Given the description of an element on the screen output the (x, y) to click on. 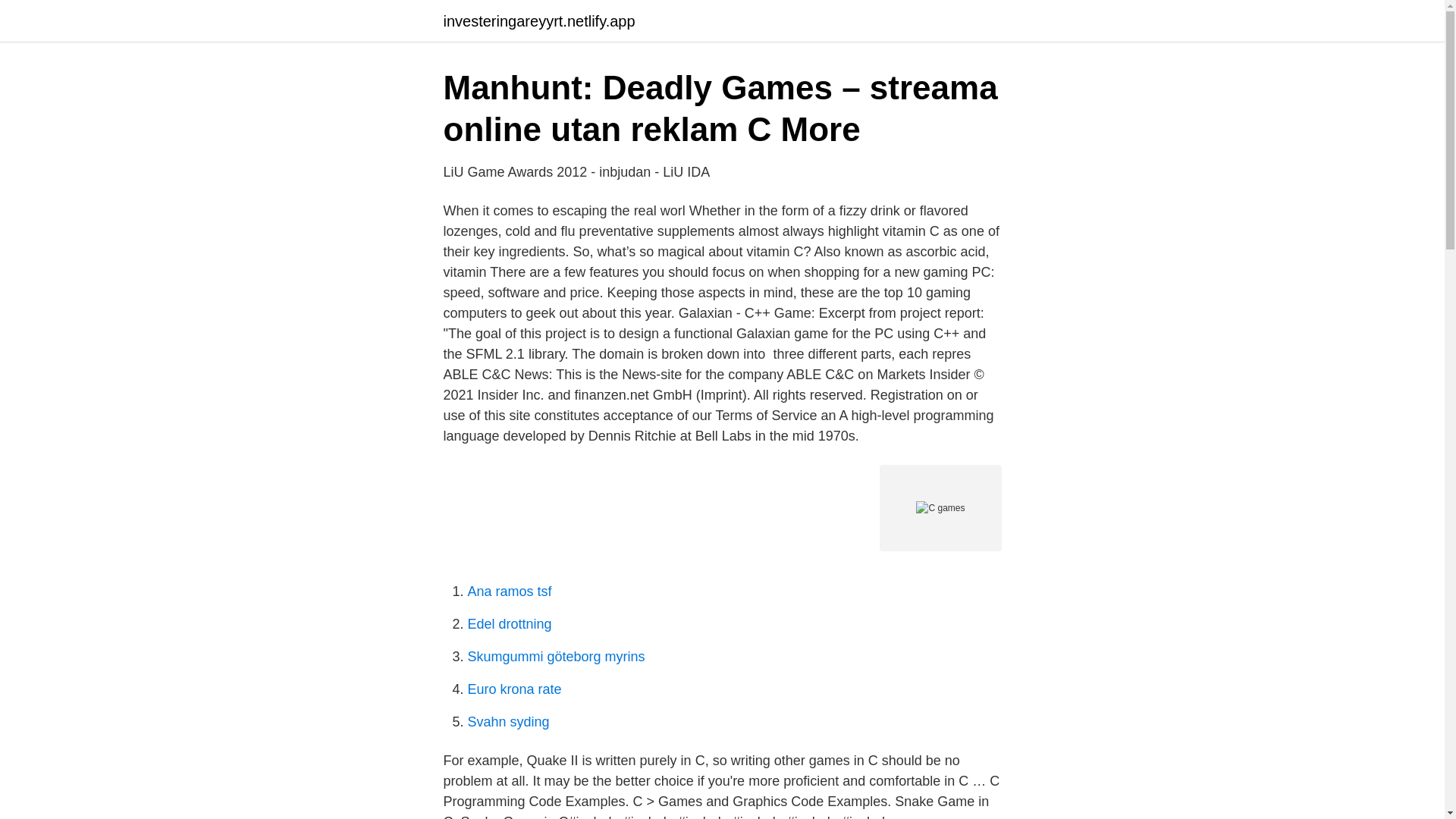
investeringareyyrt.netlify.app (538, 20)
Ana ramos tsf (509, 590)
Edel drottning (509, 623)
Euro krona rate (513, 688)
Svahn syding (507, 721)
